Given the description of an element on the screen output the (x, y) to click on. 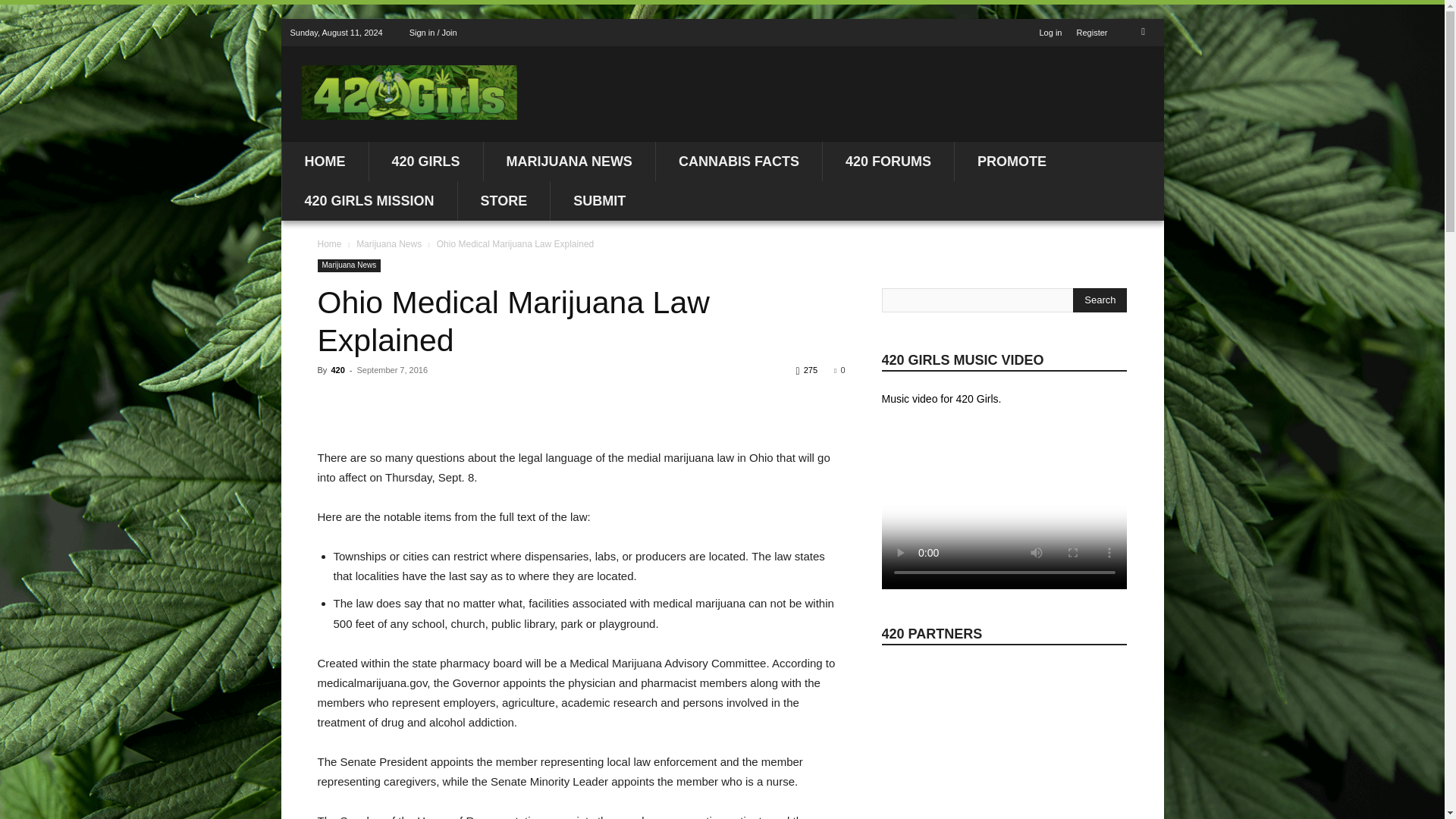
CANNABIS FACTS (739, 160)
420 GIRLS (424, 160)
Home (328, 244)
Search (1099, 300)
View all posts in Marijuana News (389, 244)
HOME (325, 160)
Register (1092, 31)
Marijuana News (348, 265)
PROMOTE (1011, 160)
0 (839, 369)
